Given the description of an element on the screen output the (x, y) to click on. 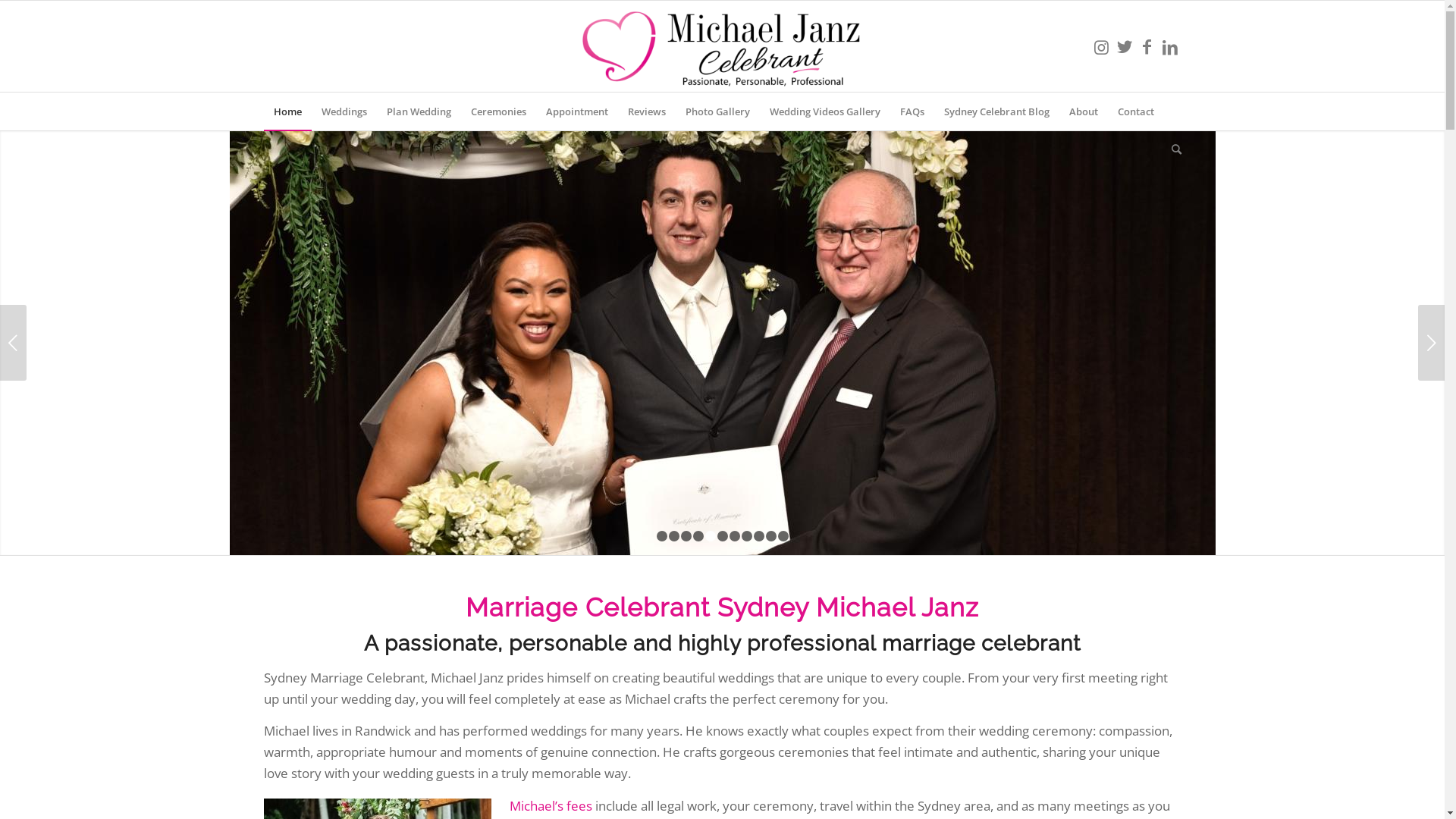
Contact Element type: text (1135, 111)
Reviews Element type: text (645, 111)
Twitter Element type: hover (1124, 45)
8 Element type: text (746, 460)
Previous Element type: text (13, 304)
Next Element type: text (1431, 304)
Plan Wedding Element type: text (418, 111)
10 Element type: text (770, 460)
Appointment Element type: text (576, 111)
3 Element type: text (685, 460)
LinkedIn Element type: hover (1169, 45)
Instagram Element type: hover (1101, 45)
7 Element type: text (734, 460)
Photo Gallery Element type: text (716, 111)
5 Element type: text (710, 460)
Sydney Celebrant Blog Element type: text (996, 111)
Weddings Element type: text (343, 111)
Facebook Element type: hover (1146, 45)
6 Element type: text (722, 460)
2 Element type: text (673, 460)
MichaelJanzCelebrantLogo Element type: hover (721, 45)
Home Element type: text (287, 111)
9 Element type: text (758, 460)
1 Element type: text (661, 460)
Wedding Videos Gallery Element type: text (824, 111)
4 Element type: text (698, 460)
Ceremonies Element type: text (498, 111)
FAQs Element type: text (912, 111)
About Element type: text (1082, 111)
11 Element type: text (783, 460)
